Given the description of an element on the screen output the (x, y) to click on. 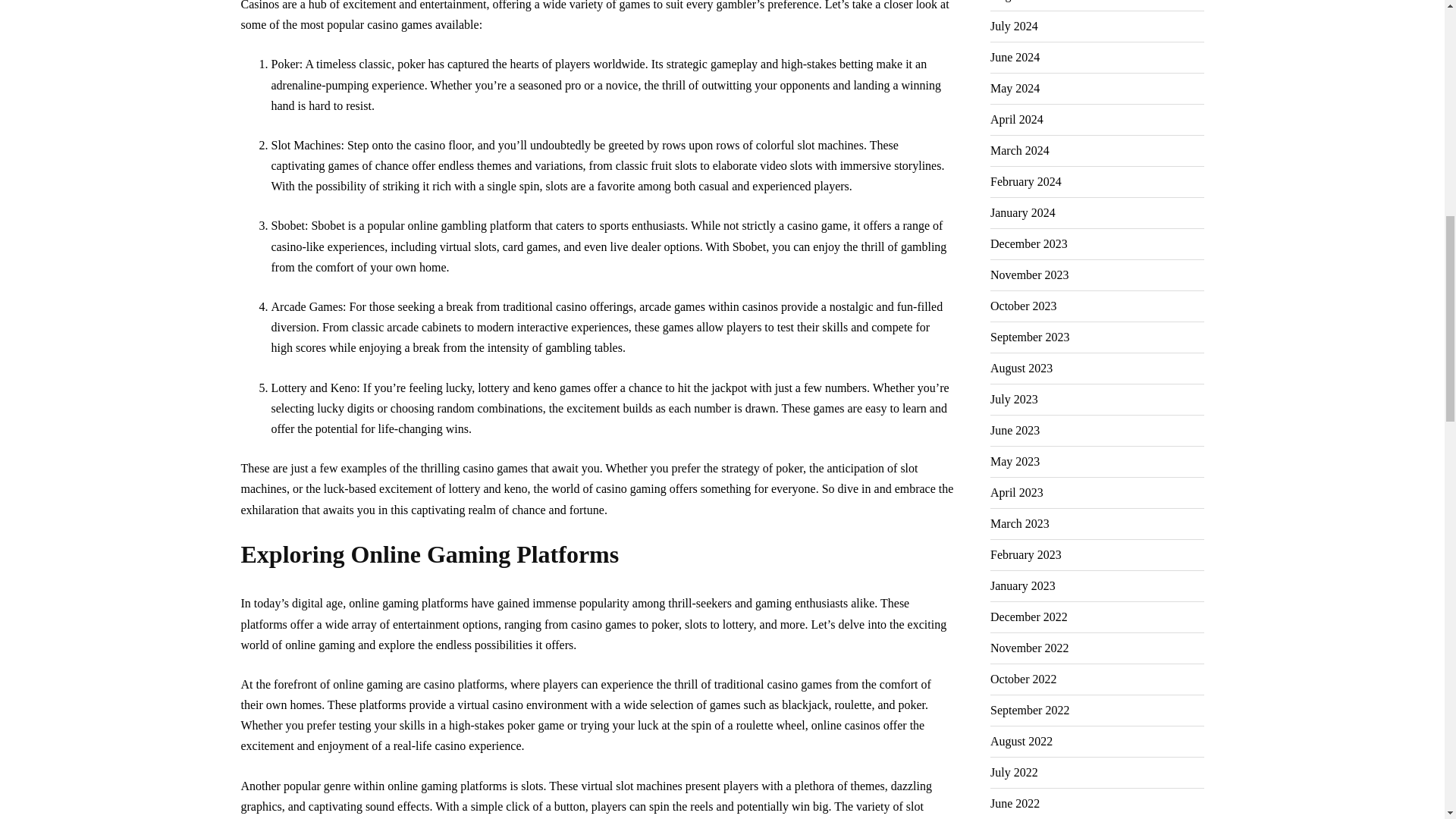
August 2024 (1021, 5)
October 2023 (1023, 306)
January 2024 (1022, 213)
February 2024 (1025, 182)
April 2024 (1016, 119)
September 2023 (1029, 337)
December 2023 (1028, 244)
May 2024 (1014, 88)
July 2024 (1014, 26)
November 2023 (1029, 275)
March 2024 (1019, 150)
June 2024 (1014, 57)
